Given the description of an element on the screen output the (x, y) to click on. 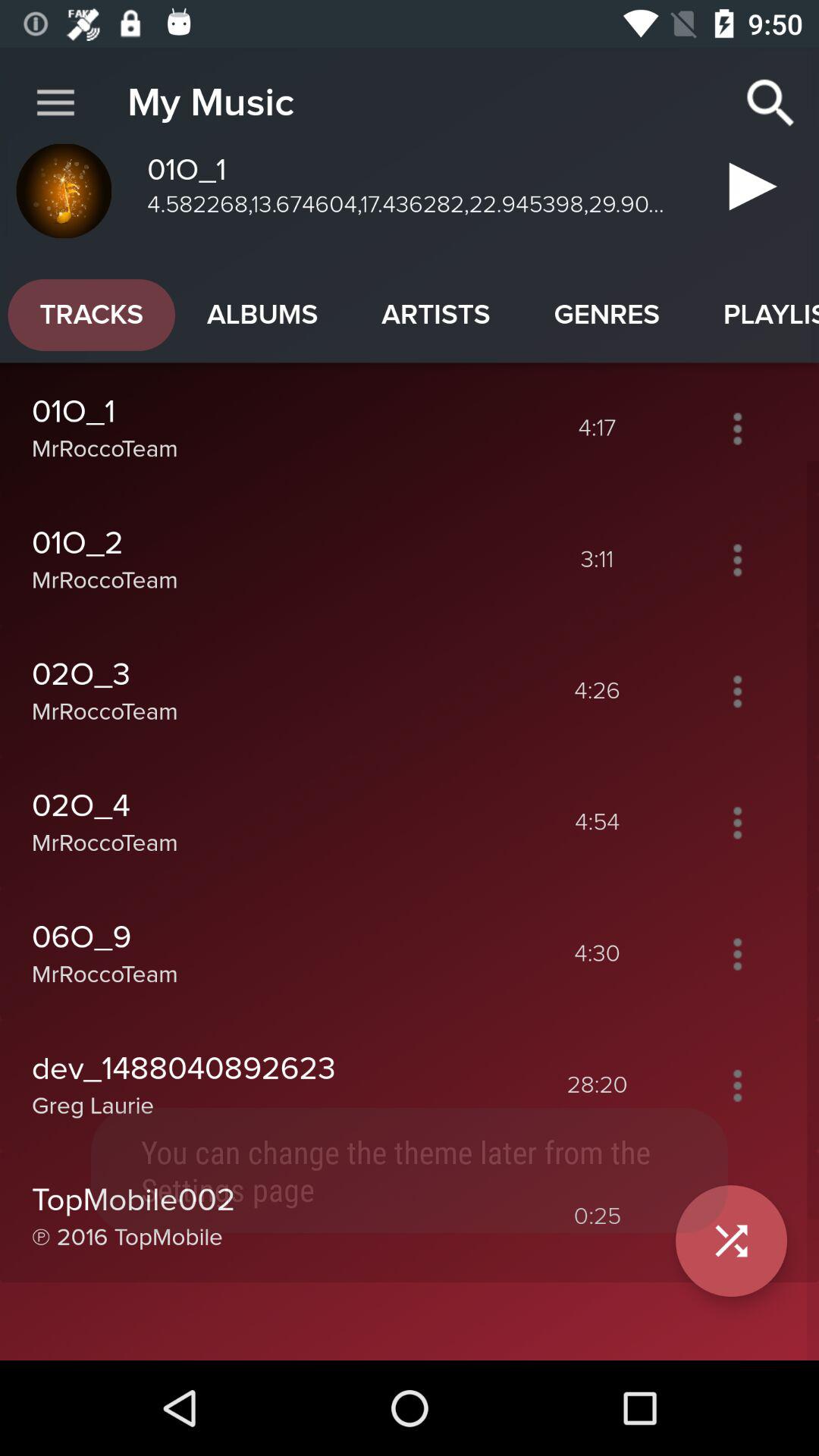
more information on 02o_4 (737, 822)
